Given the description of an element on the screen output the (x, y) to click on. 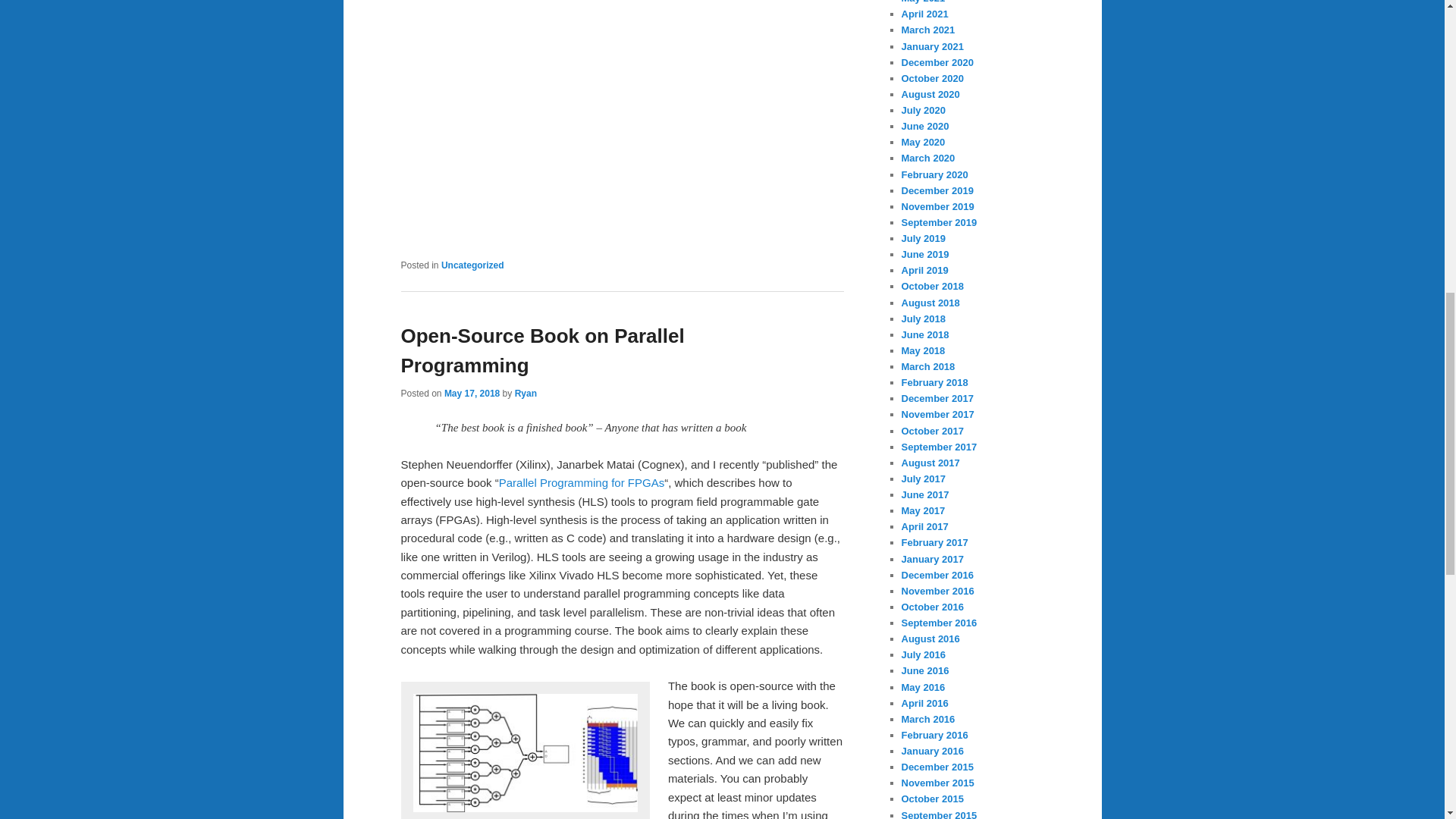
View all posts by Ryan (526, 393)
Open-Source Book on Parallel Programming (542, 350)
4:52 pm (471, 393)
Ryan (526, 393)
Uncategorized (472, 265)
May 17, 2018 (471, 393)
Parallel Programming for FPGAs (581, 481)
